Given the description of an element on the screen output the (x, y) to click on. 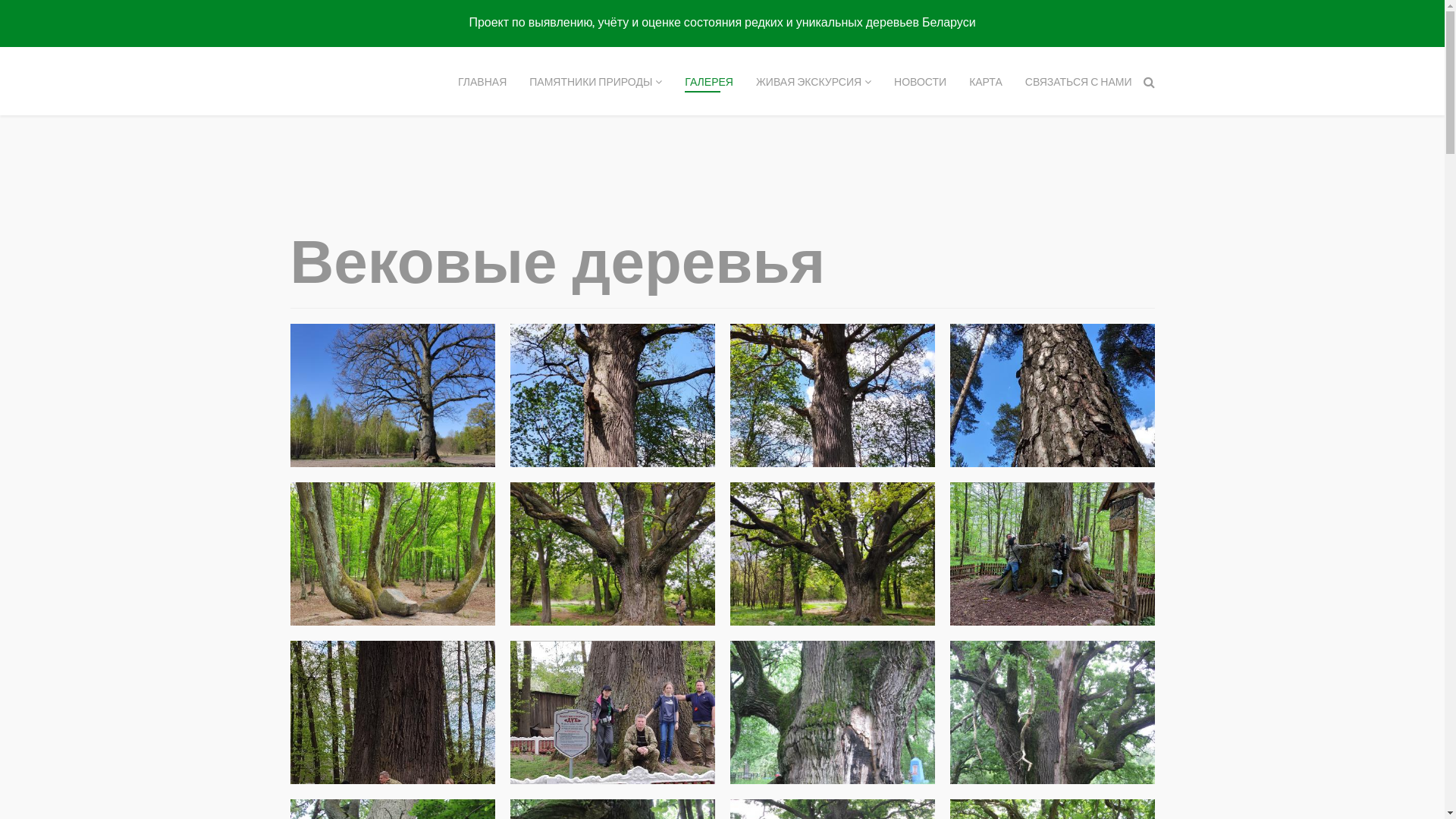
Img 20200506 102633 Element type: hover (1051, 553)
Img 20200505 133919 Element type: hover (391, 712)
Img 20200507 145521 Element type: hover (1051, 395)
Img 20200506 143010 Element type: hover (611, 553)
Img 20200507 155328 Element type: hover (611, 395)
Img 20200505 133821 Element type: hover (611, 712)
Img 20200506 145455 Element type: hover (831, 553)
Img 7284 Element type: hover (1051, 712)
Img 20200507 153801 Element type: hover (831, 395)
Img 20200508 092510 Element type: hover (391, 395)
Img 7288 Element type: hover (831, 712)
Img 20200506 160606 Element type: hover (391, 553)
